Given the description of an element on the screen output the (x, y) to click on. 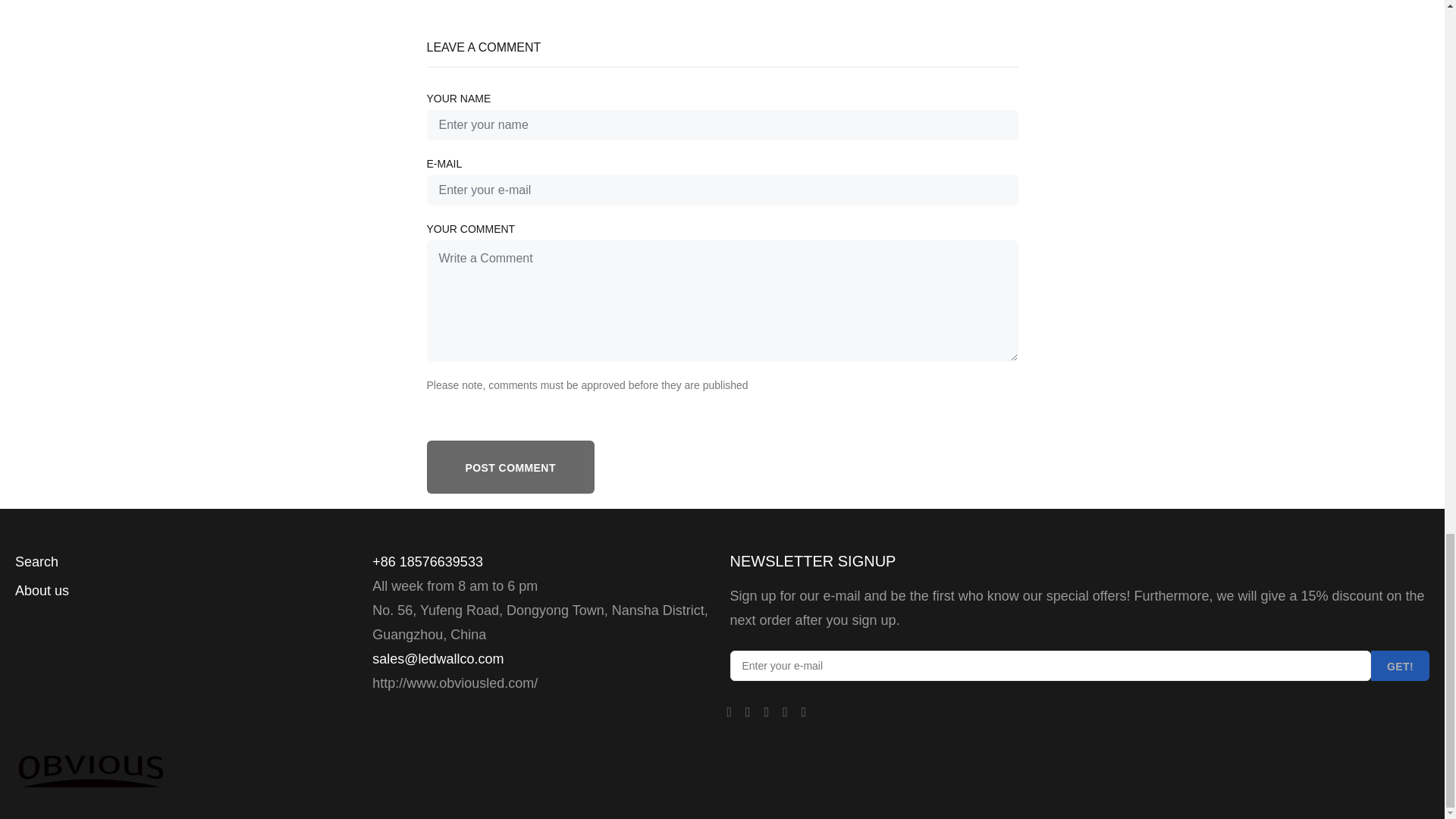
About us (41, 590)
POST COMMENT (510, 466)
Search (36, 561)
